Given the description of an element on the screen output the (x, y) to click on. 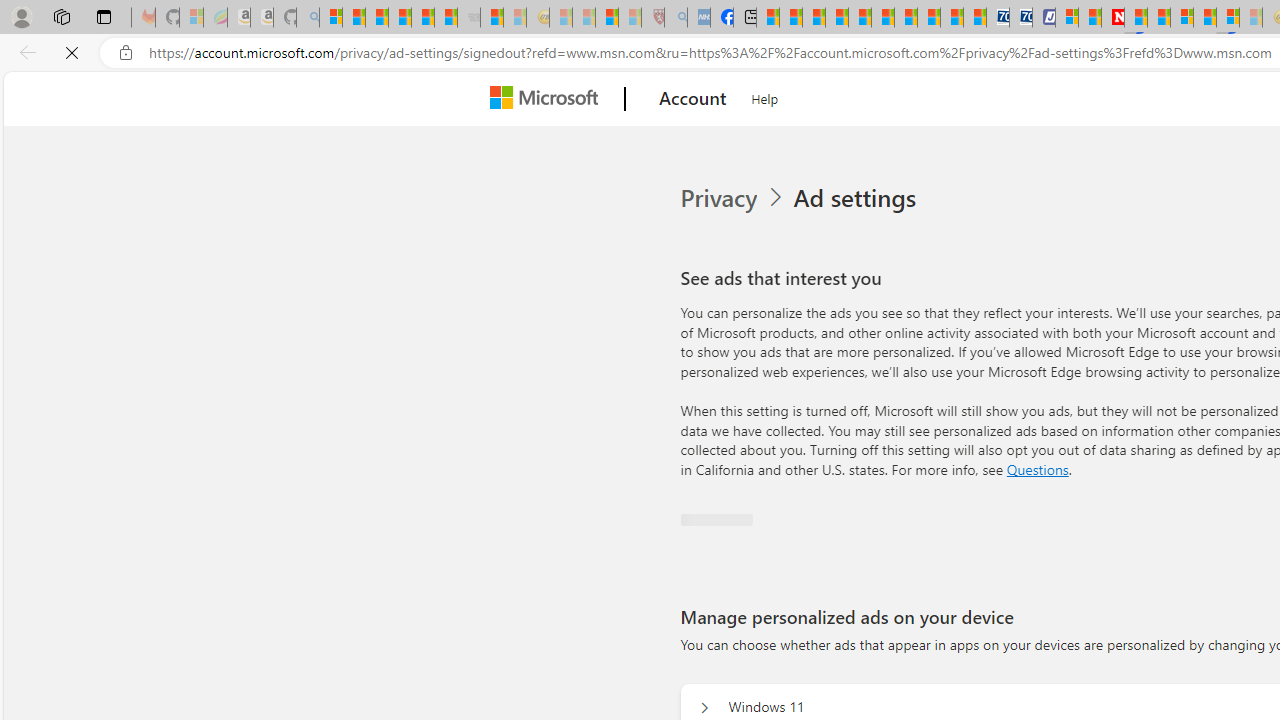
Climate Damage Becomes Too Severe To Reverse (836, 17)
Account (692, 99)
Combat Siege - Sleeping (468, 17)
Latest Politics News & Archive | Newsweek.com (1112, 17)
